Given the description of an element on the screen output the (x, y) to click on. 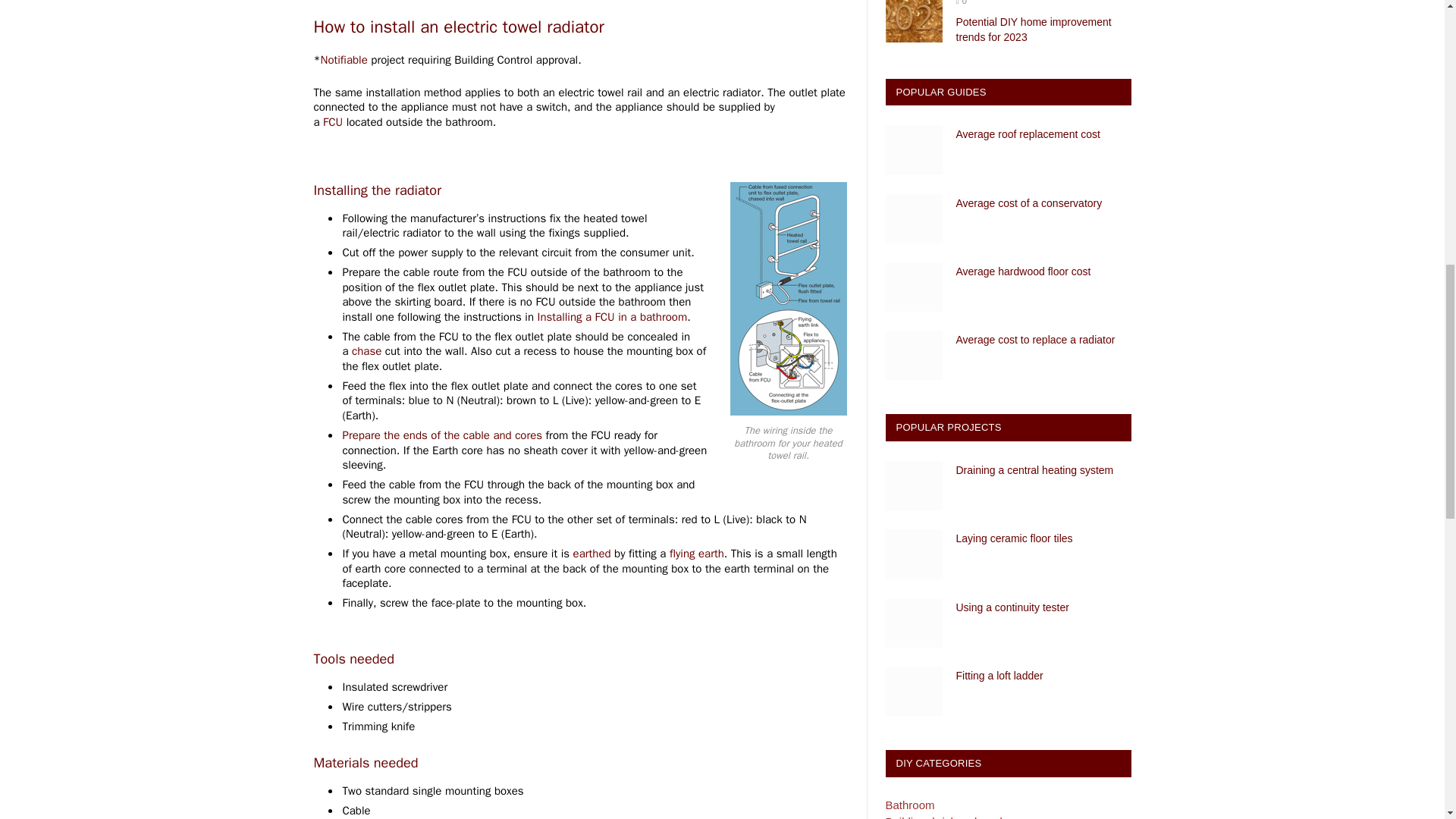
Average roof replacement cost (913, 149)
Average cost to replace a radiator (913, 355)
Laying ceramic floor tiles (913, 553)
Using a continuity tester (913, 622)
Average hardwood floor cost (913, 287)
Potential DIY home improvement trends for 2023 (913, 21)
Average cost of a conservatory (913, 218)
Draining a central heating system (913, 485)
Fitting a loft ladder (913, 690)
